Given the description of an element on the screen output the (x, y) to click on. 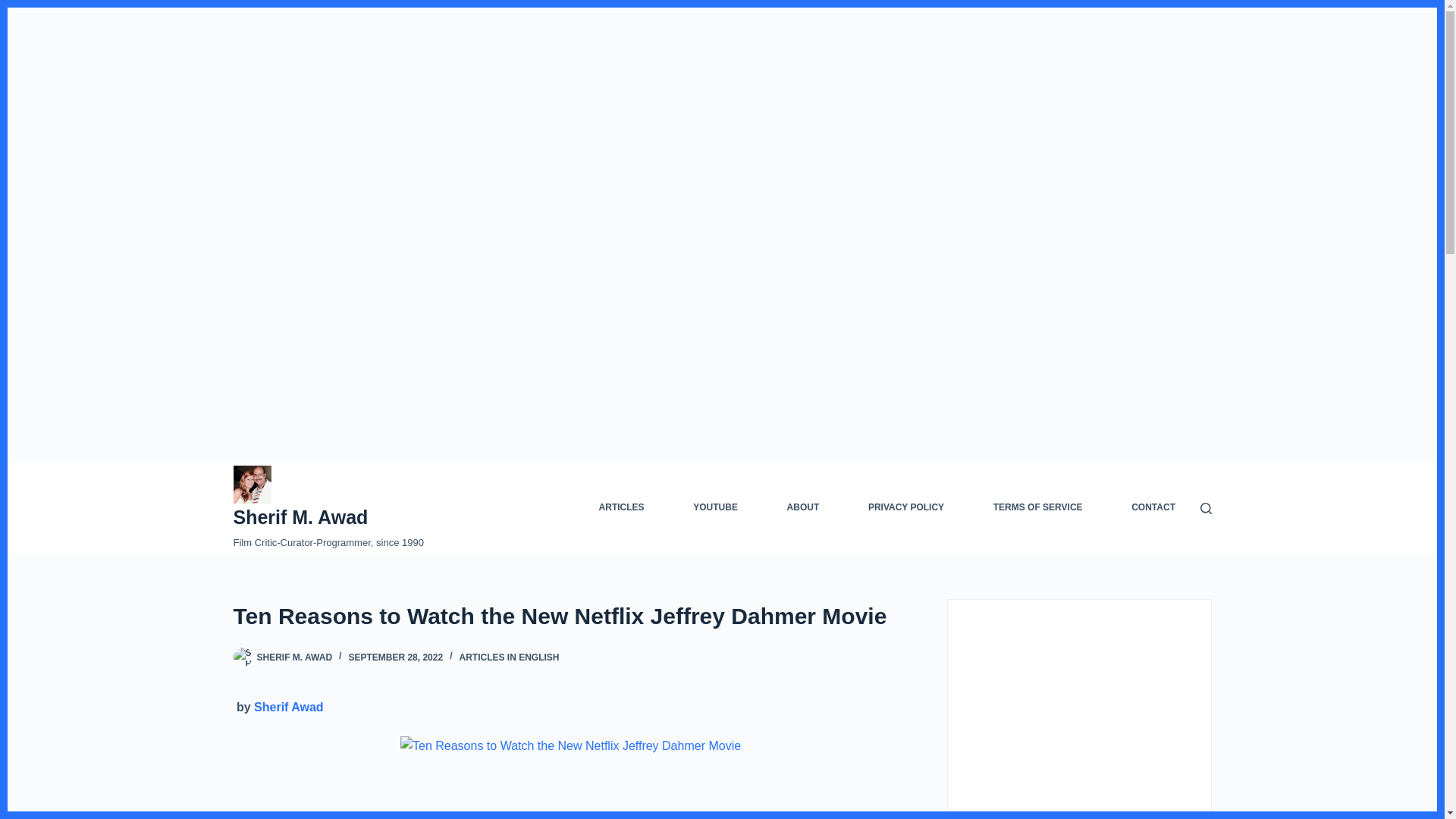
Sherif M. Awad (300, 516)
Posts by Sherif M. Awad (293, 656)
Ten Reasons to Watch the New Netflix Jeffrey Dahmer Movie (570, 615)
Sherif Awad (288, 707)
Ten Reasons to Watch the New Netflix Jeffrey Dahmer Movie (570, 745)
Skip to content (15, 7)
ARTICLES IN ENGLISH (508, 656)
PRIVACY POLICY (906, 507)
Sherif Awad (288, 707)
